Given the description of an element on the screen output the (x, y) to click on. 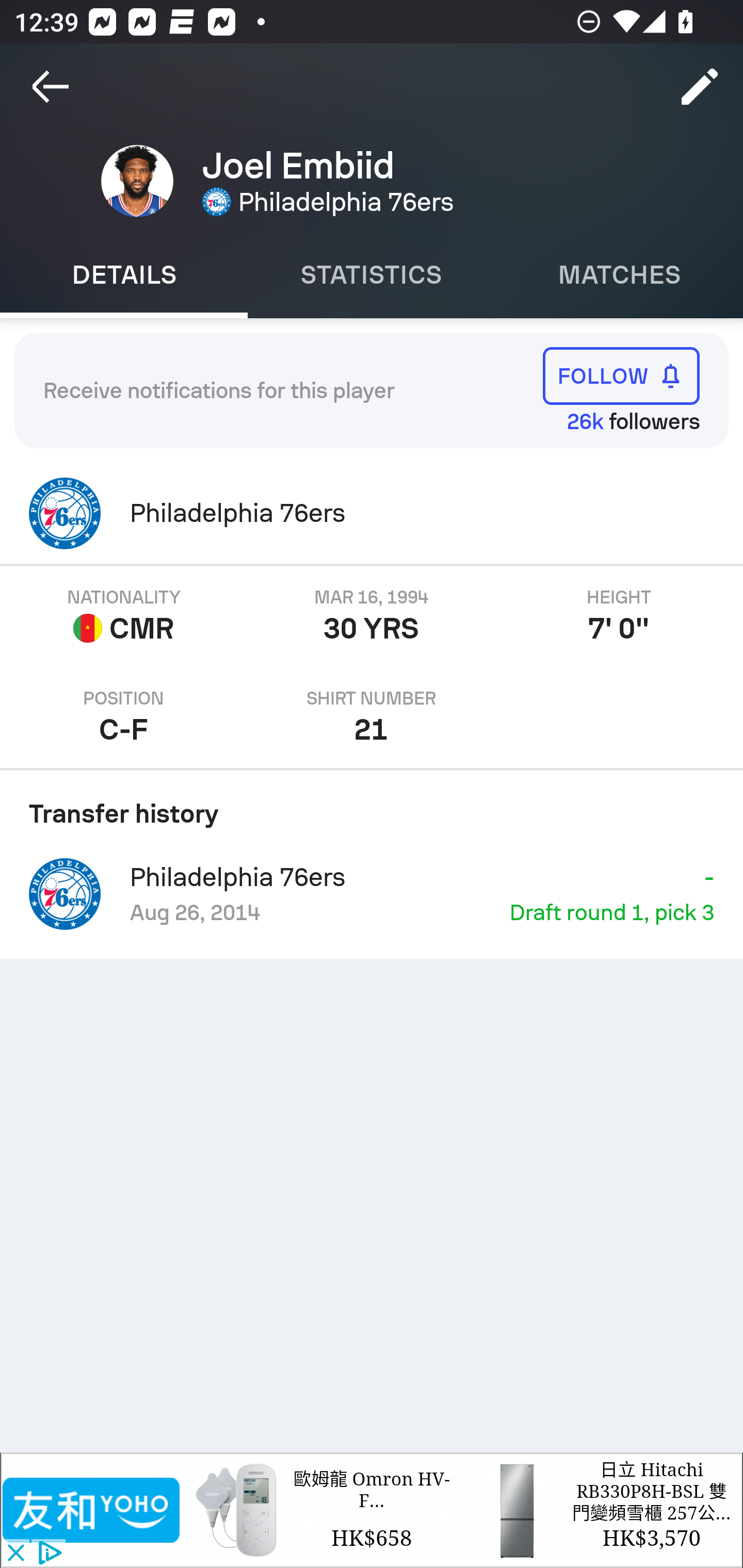
Navigate up (50, 86)
Edit (699, 86)
Statistics STATISTICS (371, 275)
Matches MATCHES (619, 275)
FOLLOW (621, 375)
Philadelphia 76ers (371, 513)
NATIONALITY CMR (123, 616)
POSITION C-F (123, 717)
Transfer history (371, 806)
   (91, 1509)
close_button (14, 1553)
privacy_small (47, 1553)
